Given the description of an element on the screen output the (x, y) to click on. 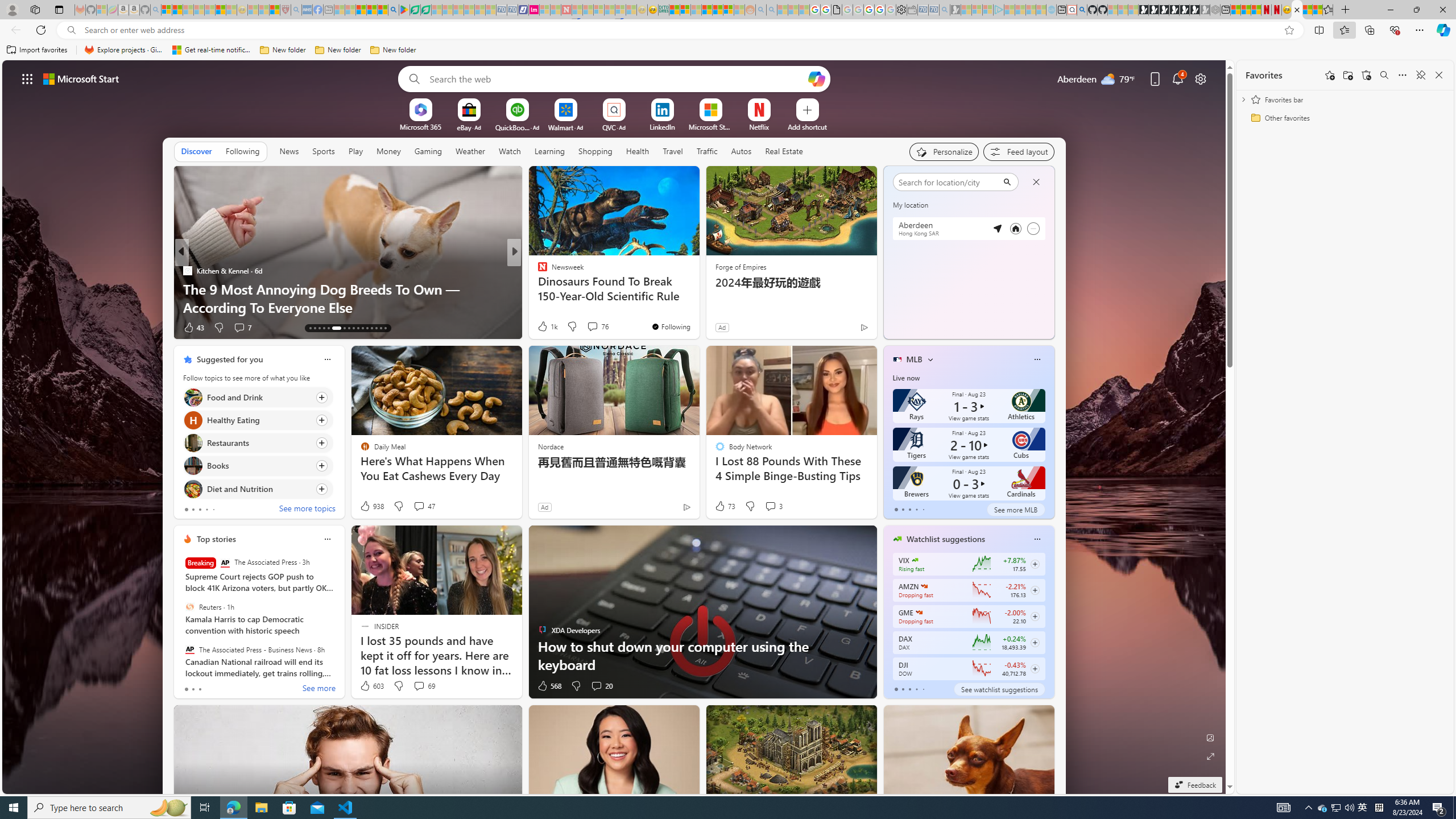
Import favorites (36, 49)
Set as your primary location (1015, 228)
Local - MSN (274, 9)
